Given the description of an element on the screen output the (x, y) to click on. 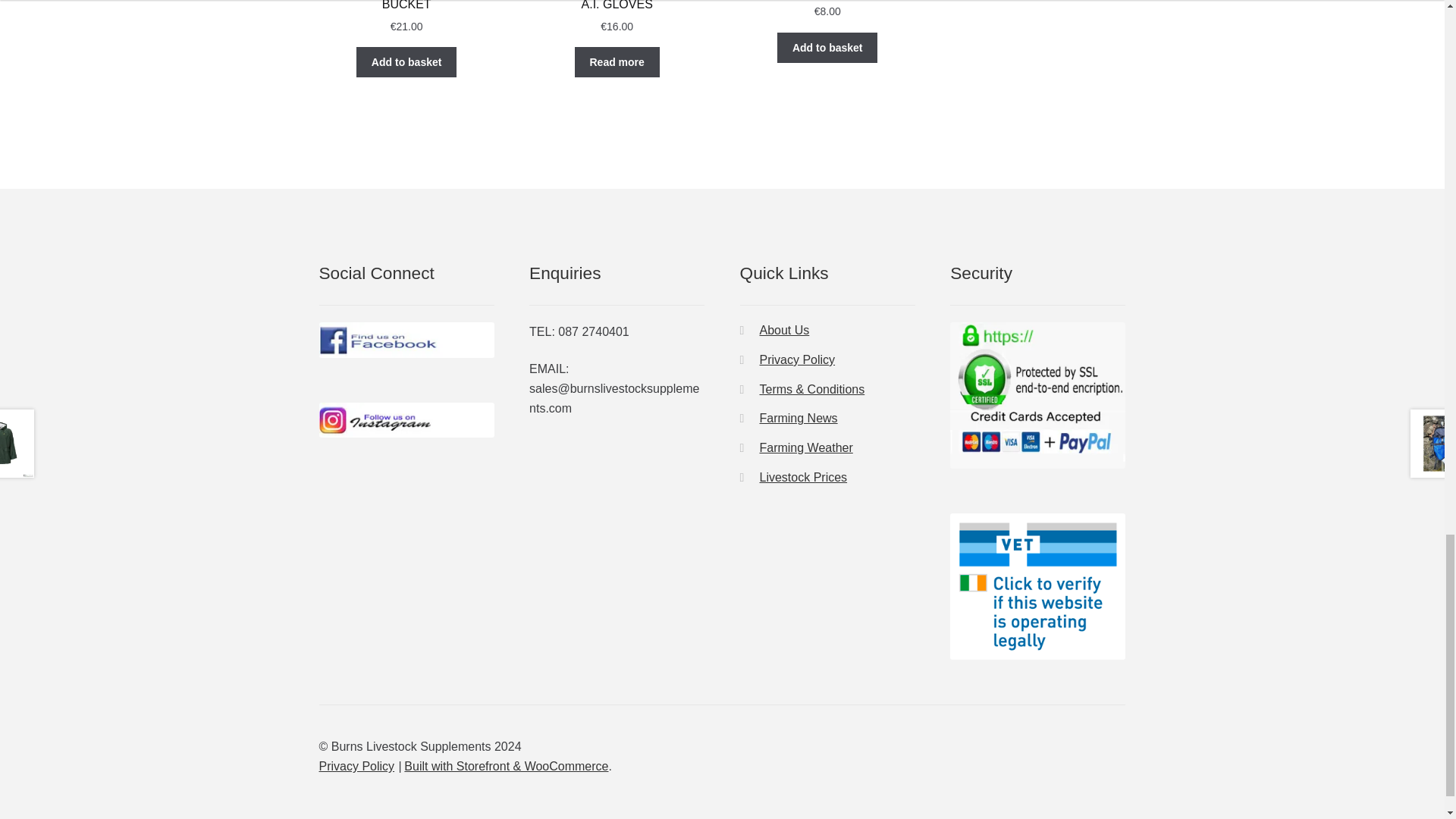
WooCommerce - The Best eCommerce Platform for WordPress (506, 766)
